Given the description of an element on the screen output the (x, y) to click on. 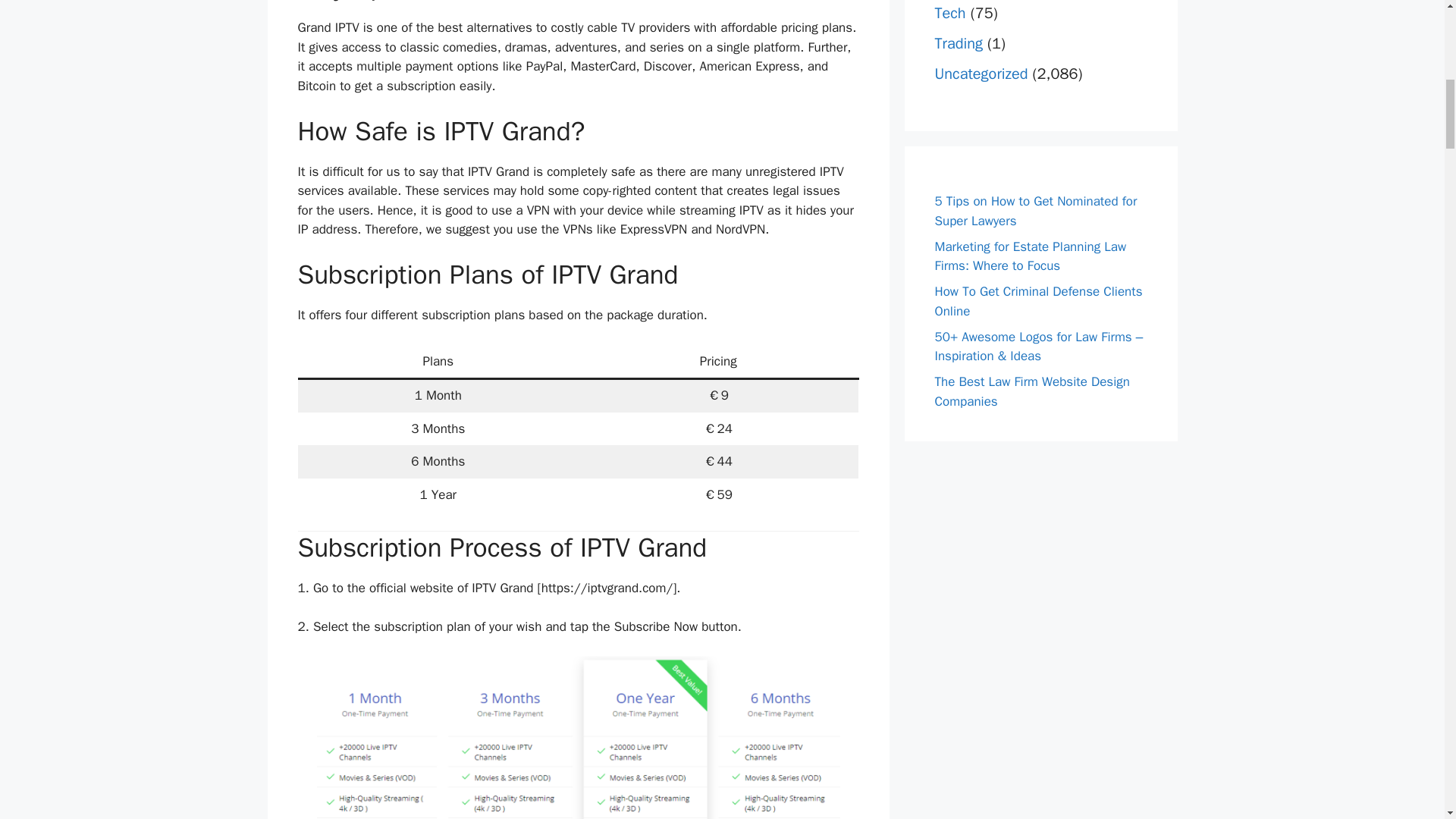
The Best Law Firm Website Design Companies (1031, 391)
How To Get Criminal Defense Clients Online (1037, 301)
Uncategorized (980, 73)
Trading (958, 43)
Tech (949, 13)
Marketing for Estate Planning Law Firms: Where to Focus (1029, 255)
5 Tips on How to Get Nominated for Super Lawyers (1035, 211)
